Given the description of an element on the screen output the (x, y) to click on. 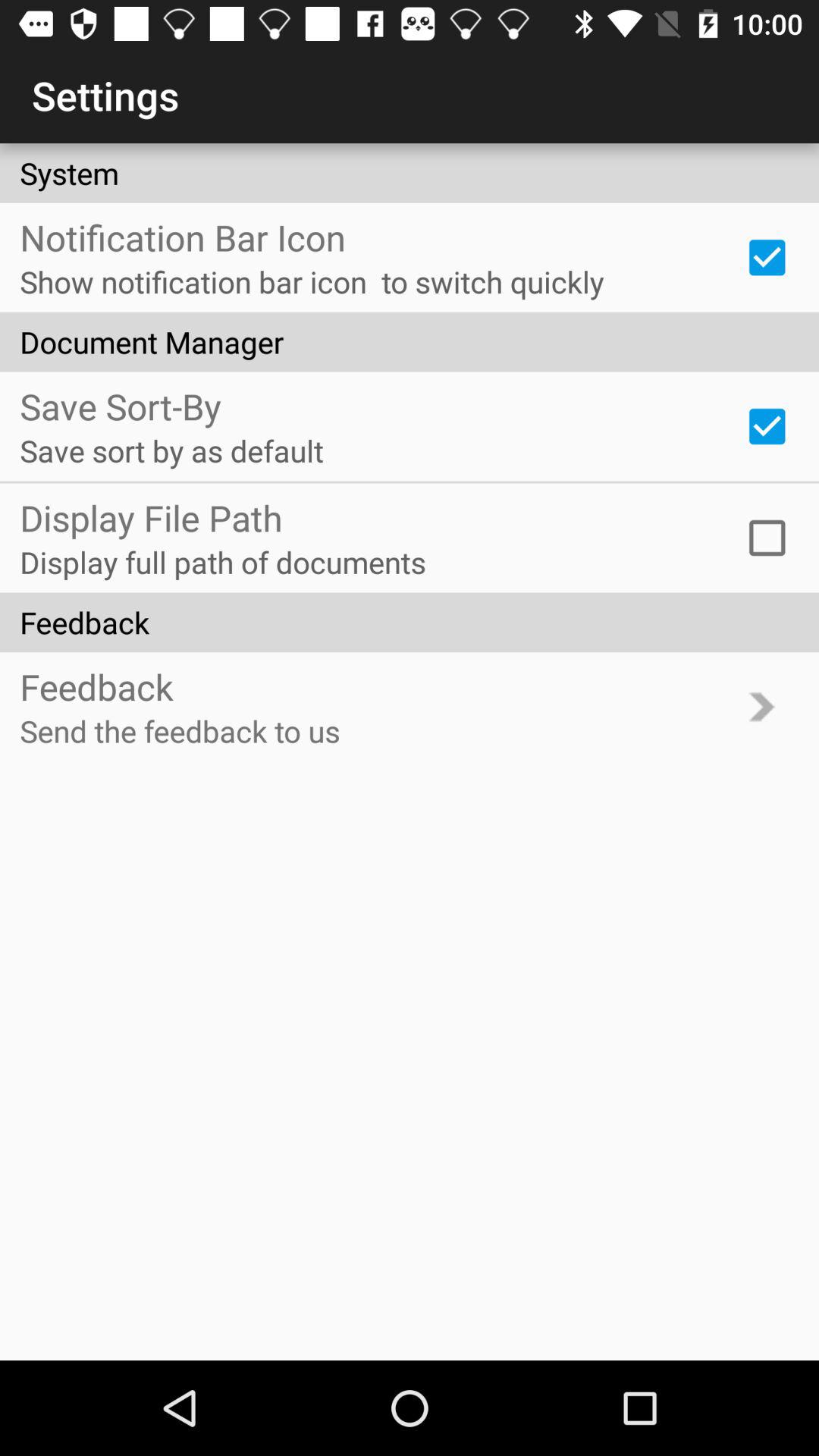
open the item below system (767, 257)
